Given the description of an element on the screen output the (x, y) to click on. 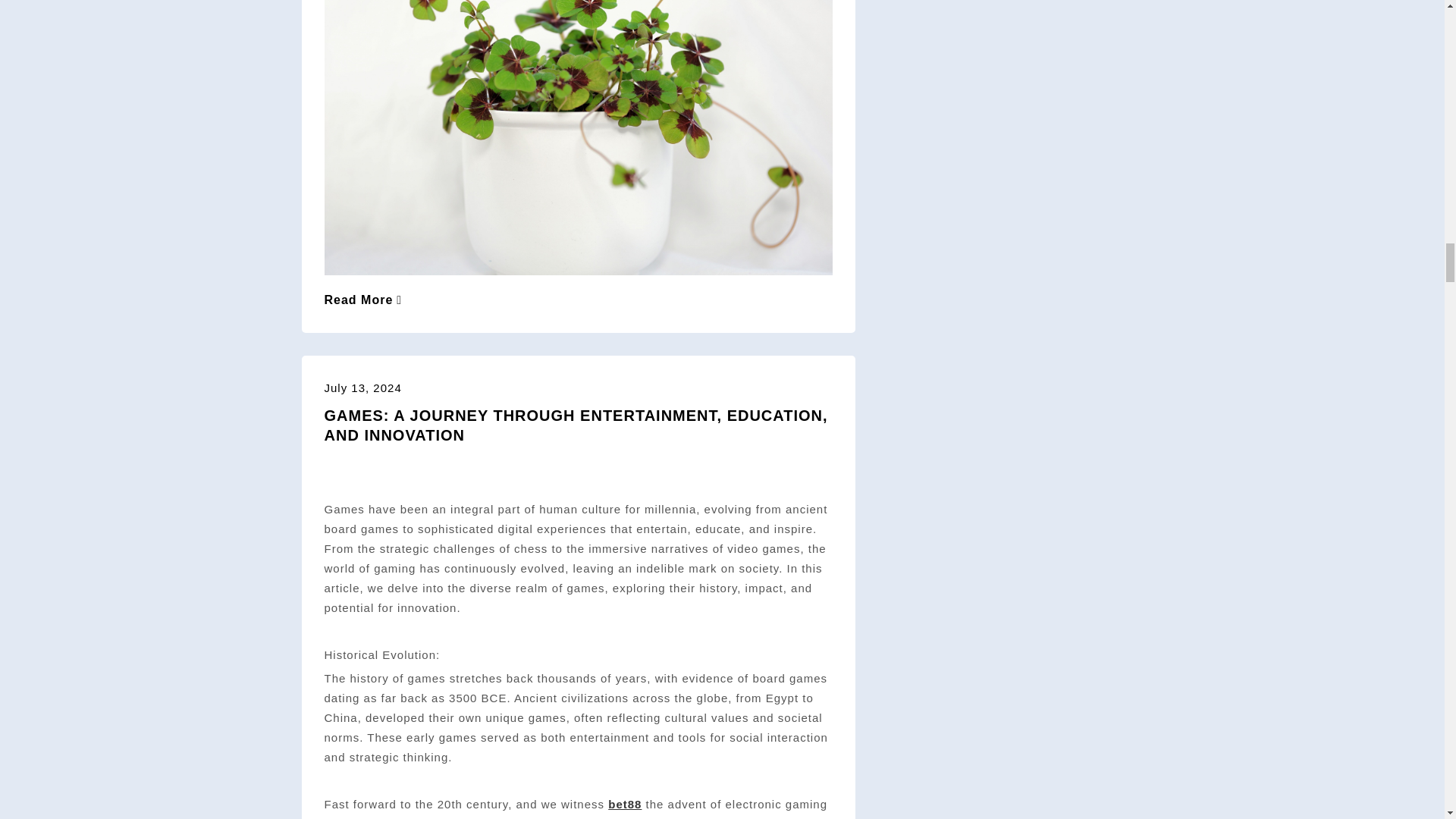
July 13, 2024 (362, 387)
Read More (363, 299)
bet88 (625, 803)
